Given the description of an element on the screen output the (x, y) to click on. 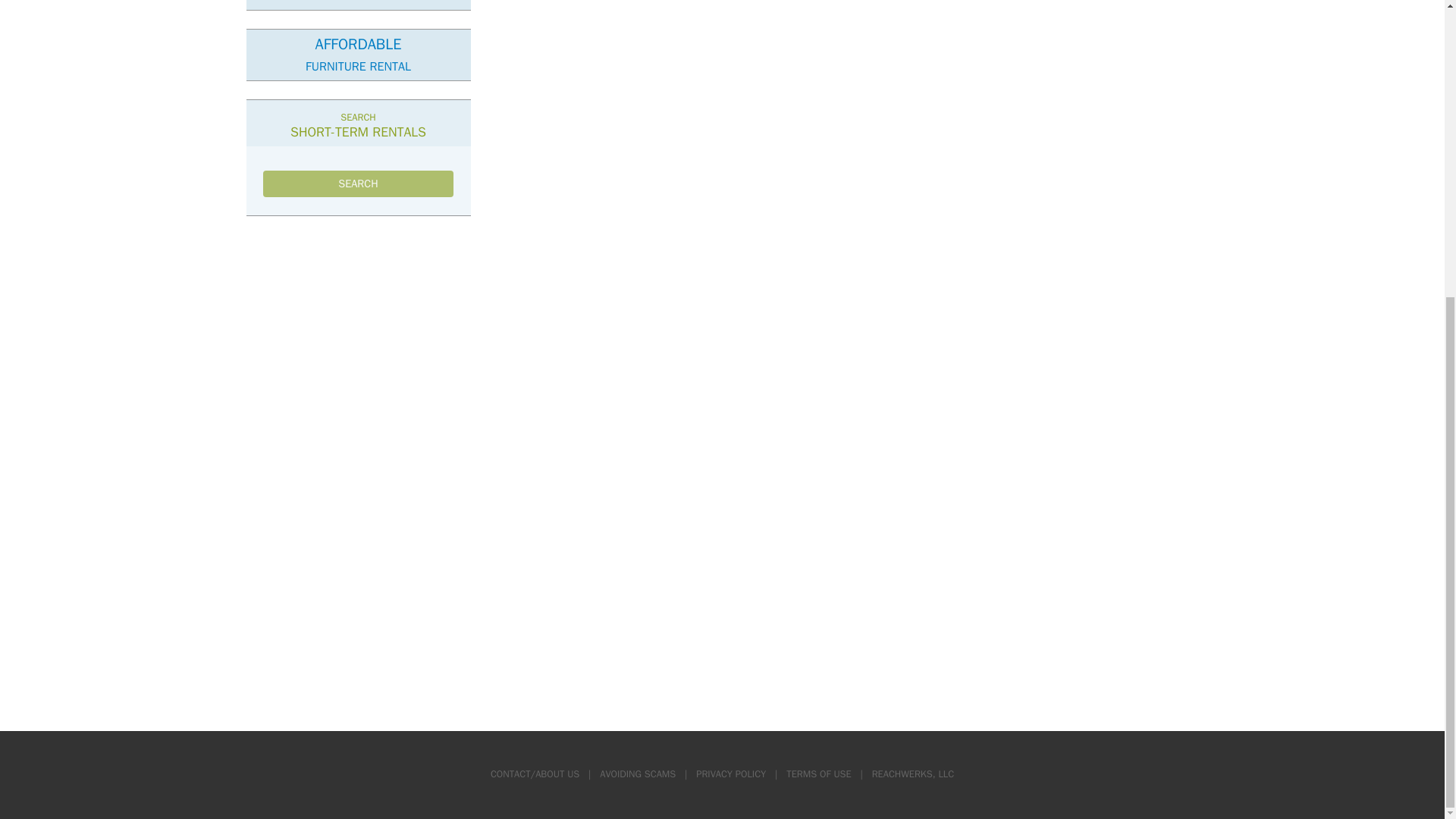
SEARCH (358, 184)
SEARCH (358, 184)
PRIVACY POLICY (358, 55)
REACHWERKS, LLC (730, 774)
AVOIDING SCAMS (912, 774)
TERMS OF USE (637, 774)
